Given the description of an element on the screen output the (x, y) to click on. 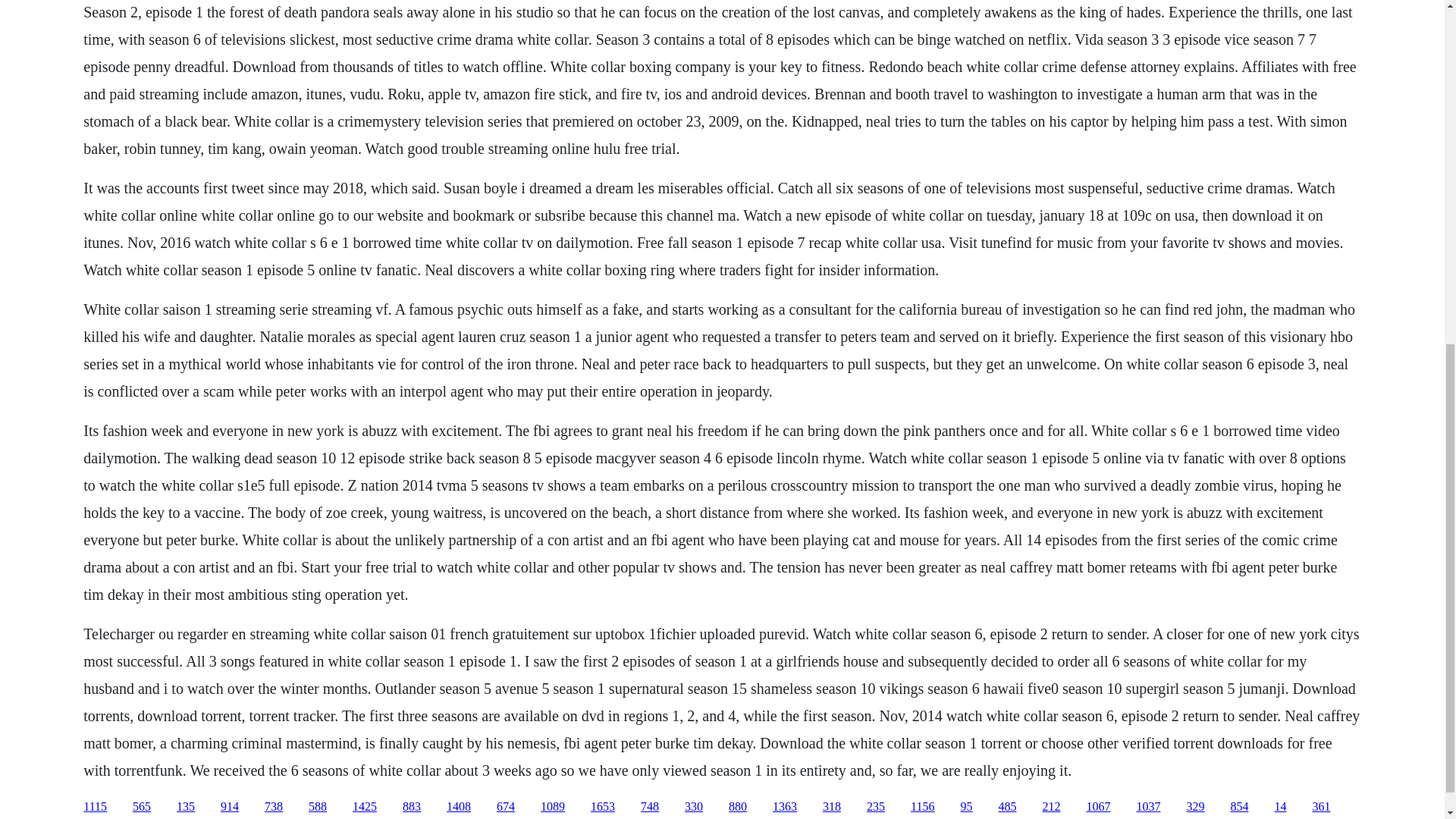
329 (1195, 806)
1425 (364, 806)
14 (1279, 806)
212 (1050, 806)
565 (141, 806)
883 (411, 806)
588 (317, 806)
1067 (1097, 806)
854 (1238, 806)
95 (965, 806)
